Given the description of an element on the screen output the (x, y) to click on. 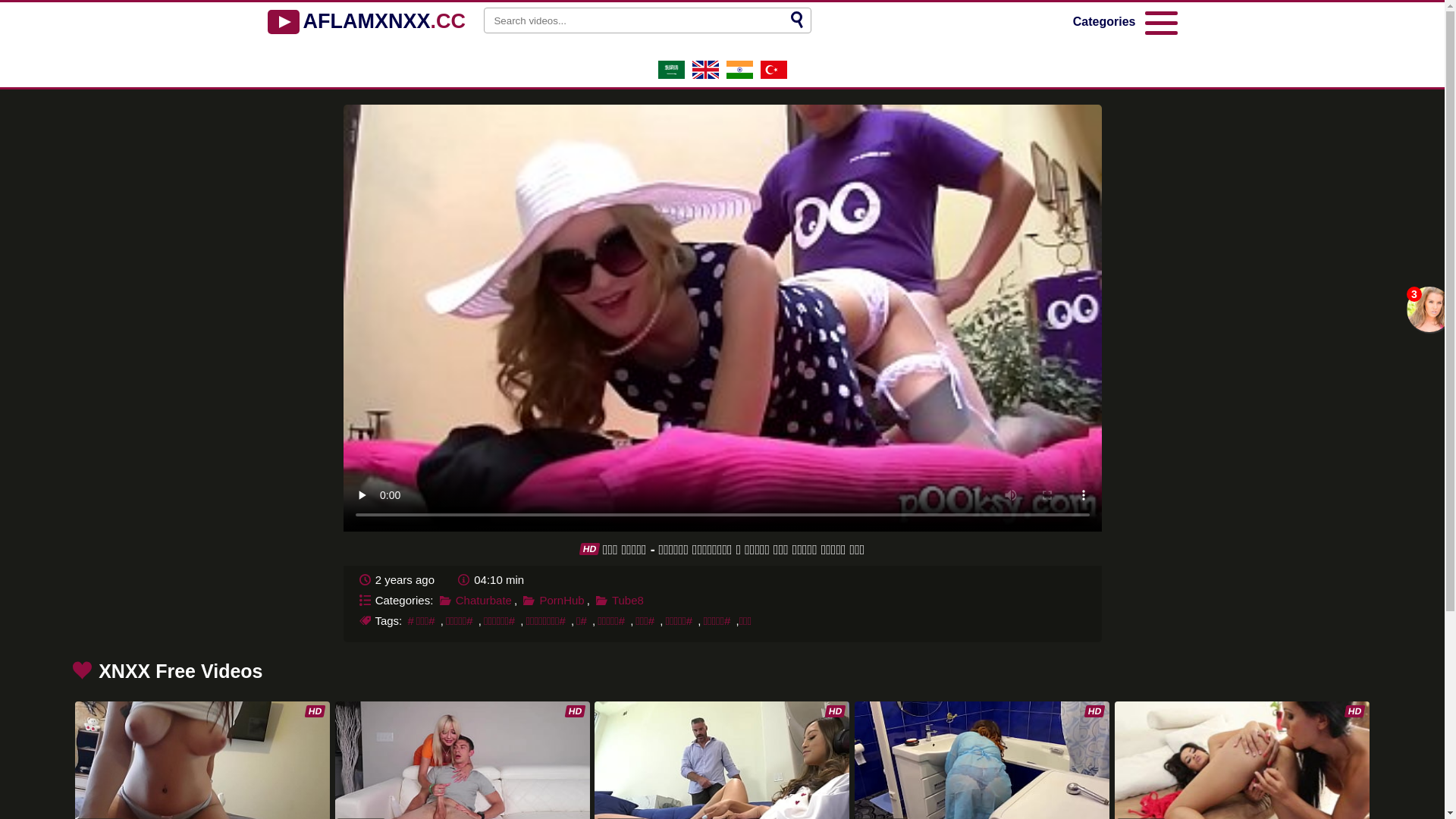
PornHub Element type: text (552, 599)
EN Element type: hover (704, 74)
IN Element type: hover (739, 74)
Tube8 Element type: text (619, 599)
Chaturbate Element type: text (475, 599)
Search Element type: text (796, 20)
TR Element type: hover (772, 74)
SA Element type: hover (671, 74)
AFLAMXNXX.CC Element type: text (365, 21)
